Given the description of an element on the screen output the (x, y) to click on. 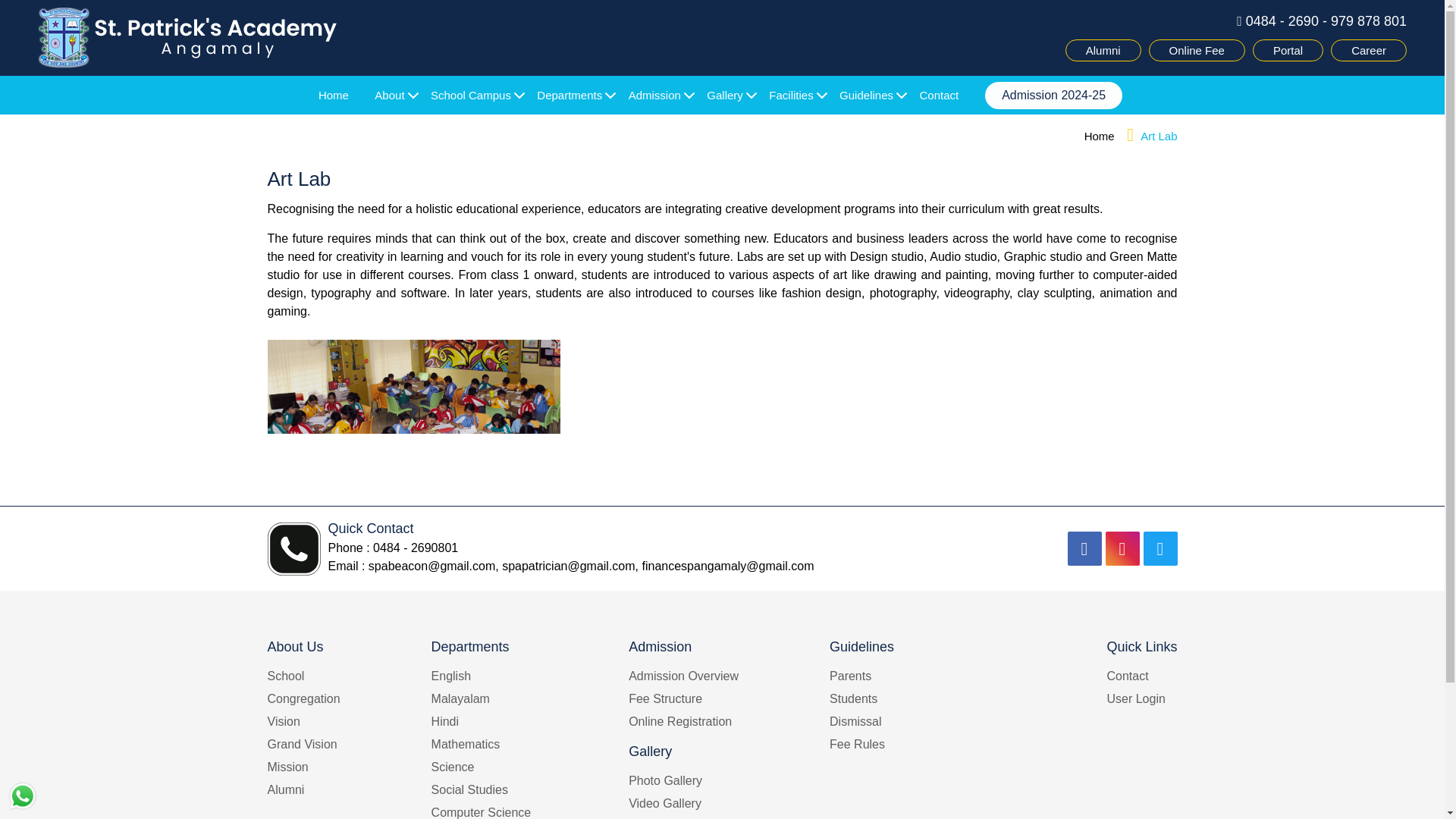
Online Fee (1196, 50)
Portal (1287, 50)
School Campus (470, 95)
Facebook (1084, 548)
Alumni (1103, 50)
St. Patrick's Academy (186, 37)
Linked In (1159, 548)
Instagram (1122, 548)
Departments (569, 95)
WhatsApp (22, 796)
Career (1368, 50)
